Given the description of an element on the screen output the (x, y) to click on. 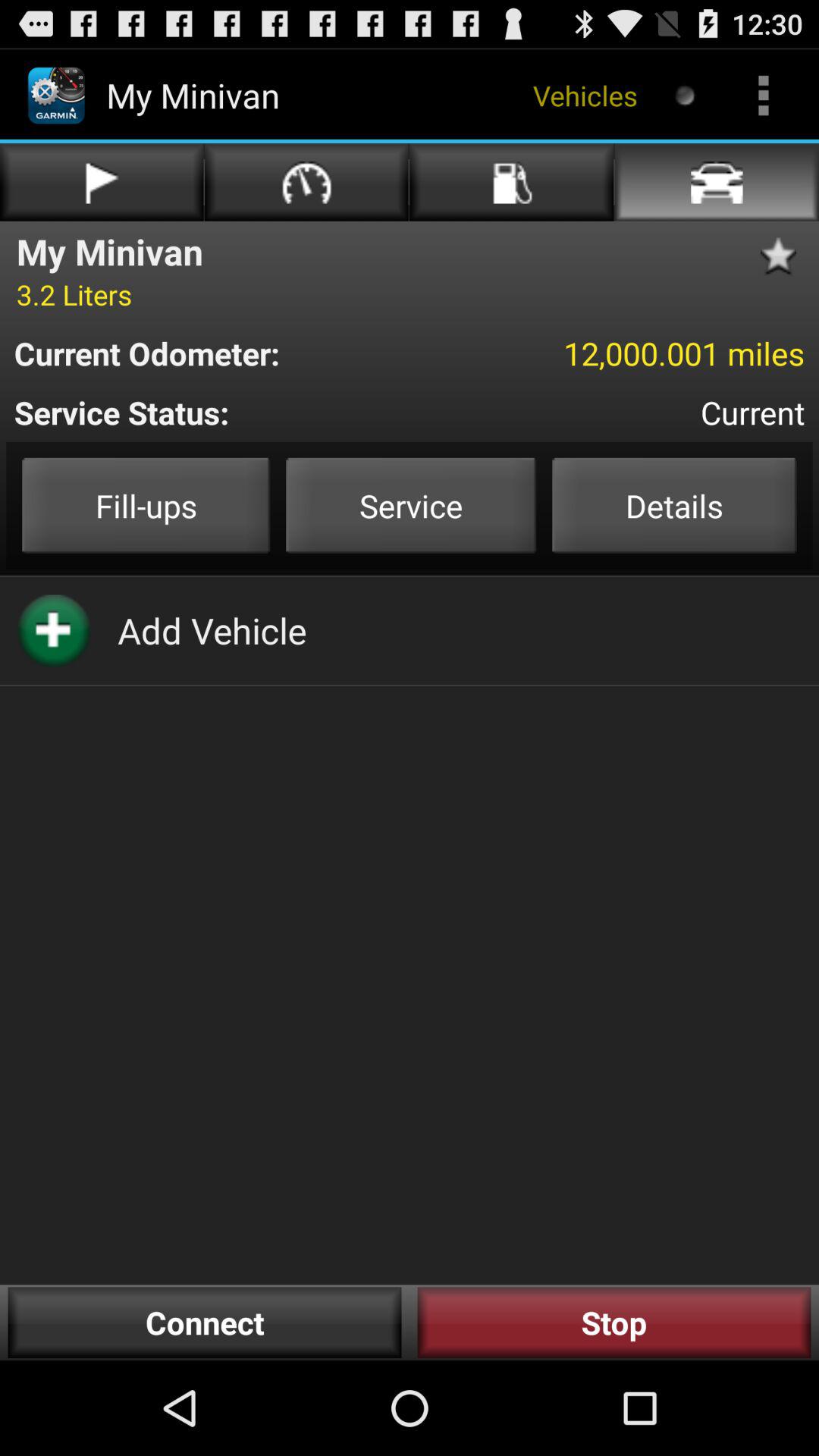
add to my favorite (783, 256)
